Given the description of an element on the screen output the (x, y) to click on. 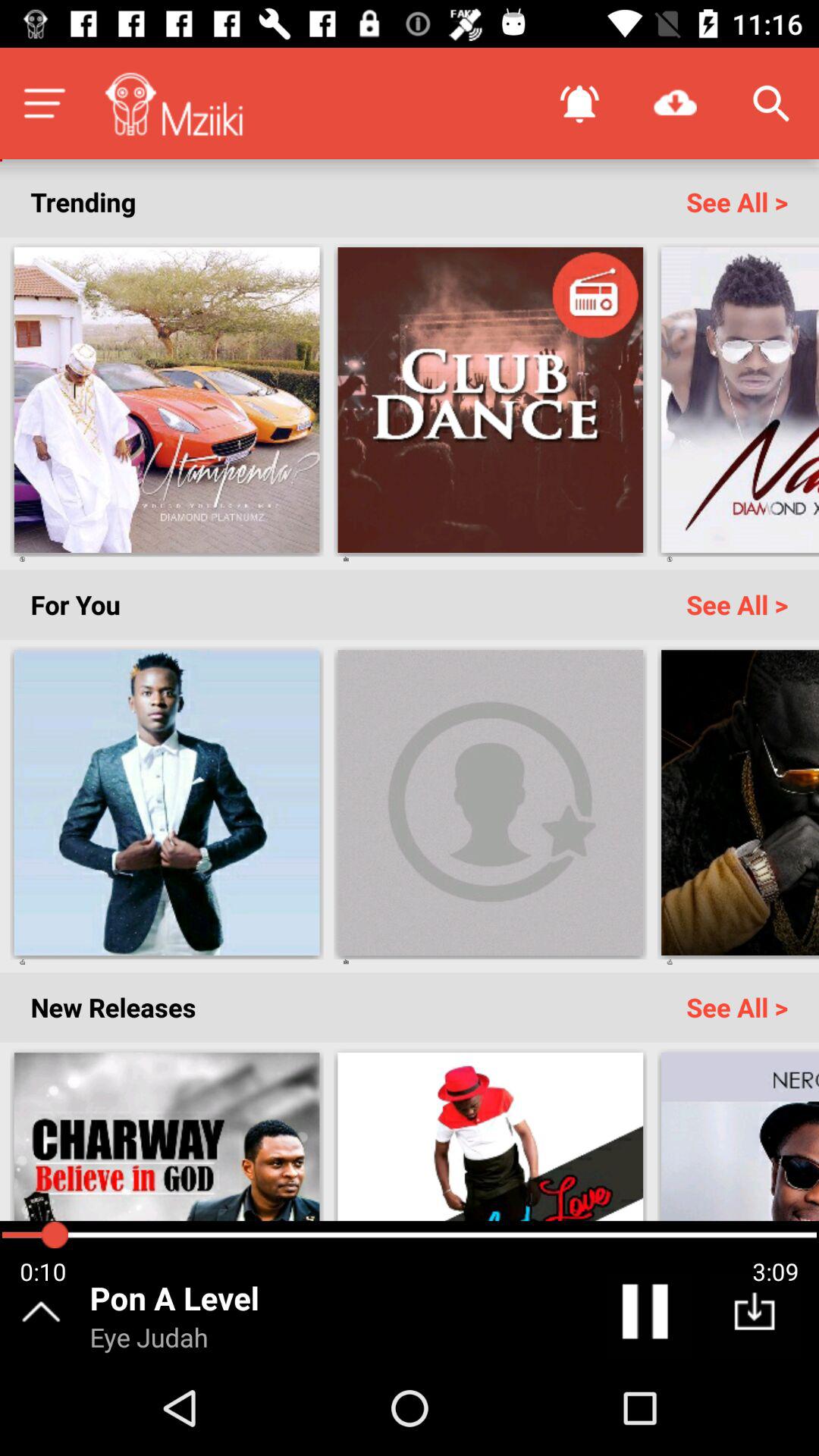
explore the menu (44, 103)
